Given the description of an element on the screen output the (x, y) to click on. 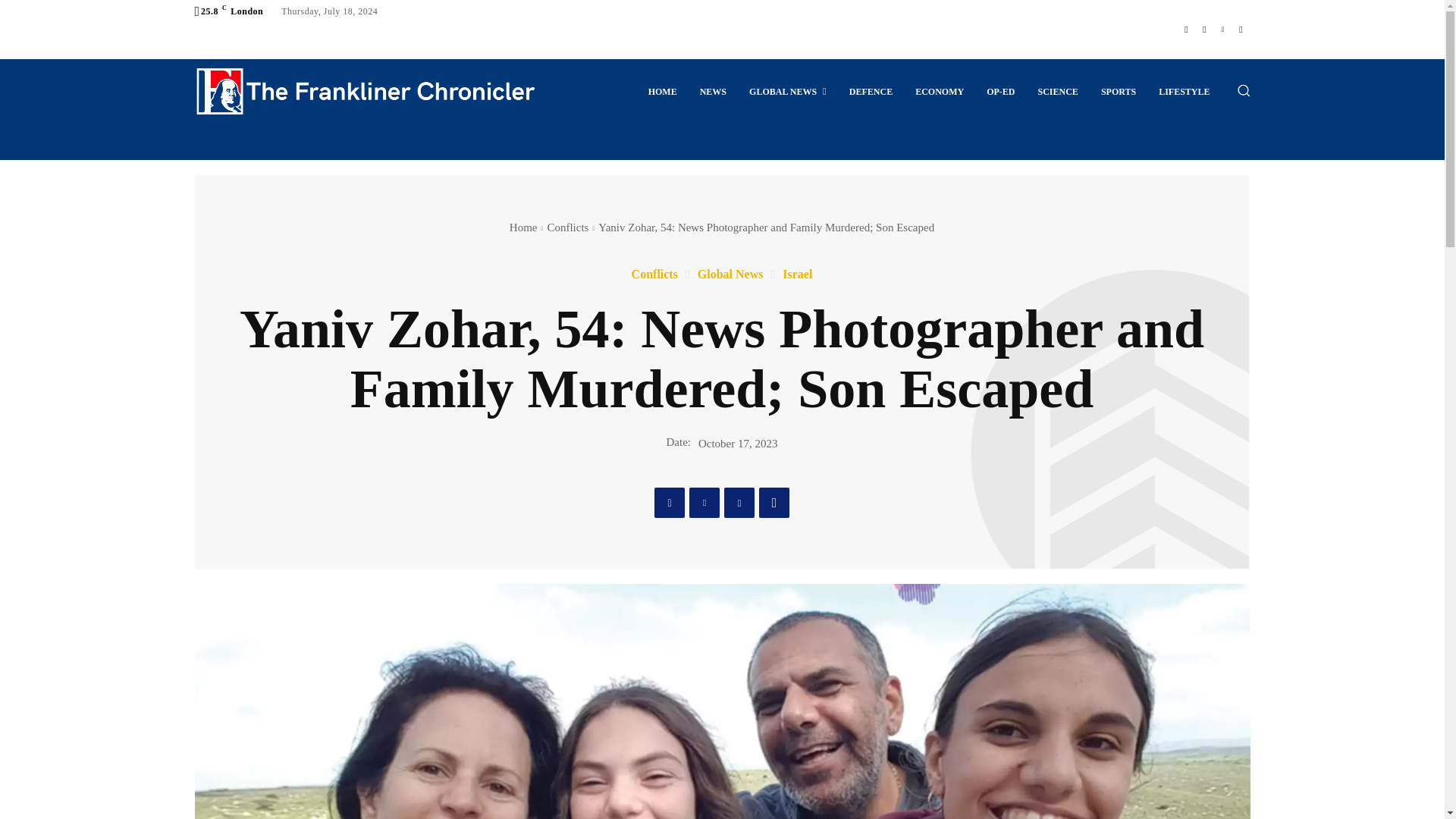
Facebook (1185, 29)
WhatsApp (773, 502)
Youtube (1240, 29)
View all posts in Conflicts (567, 227)
Facebook (668, 502)
Instagram (1203, 29)
Twitter (703, 502)
Twitter (1221, 29)
Pinterest (738, 502)
